Given the description of an element on the screen output the (x, y) to click on. 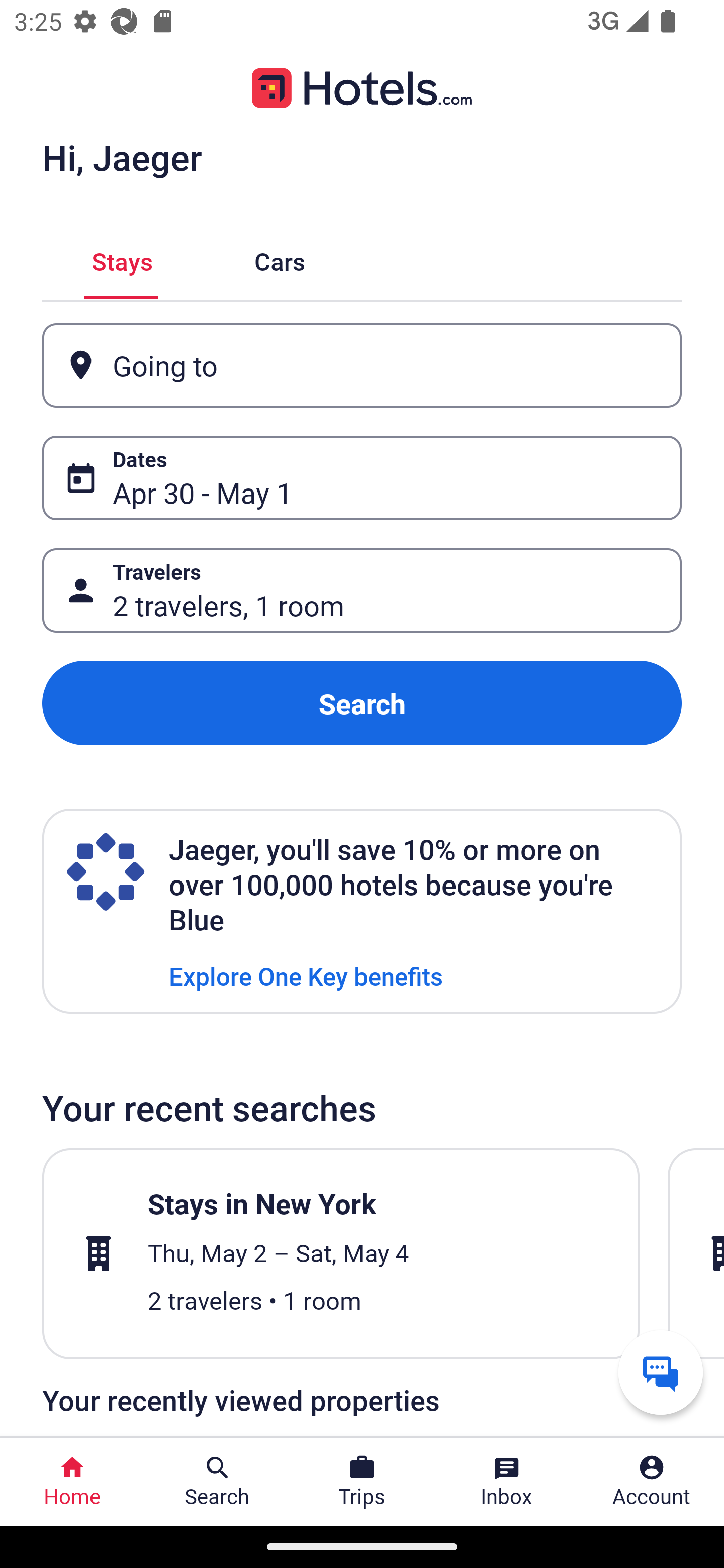
Hi, Jaeger (121, 156)
Cars (279, 259)
Going to Button (361, 365)
Dates Button Apr 30 - May 1 (361, 477)
Travelers Button 2 travelers, 1 room (361, 590)
Search (361, 702)
Get help from a virtual agent (660, 1371)
Search Search Button (216, 1481)
Trips Trips Button (361, 1481)
Inbox Inbox Button (506, 1481)
Account Profile. Button (651, 1481)
